Given the description of an element on the screen output the (x, y) to click on. 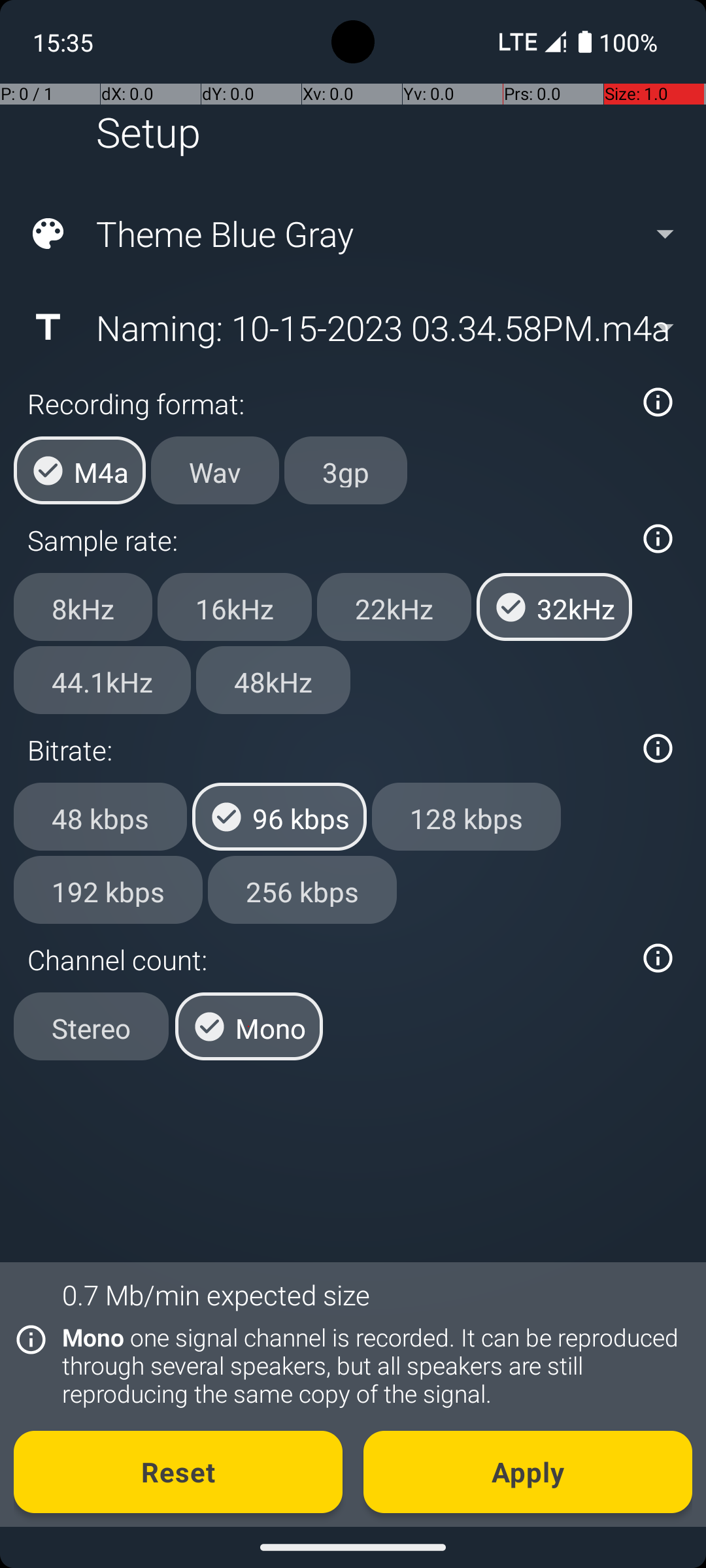
0.7 Mb/min expected size Element type: android.widget.TextView (215, 1294)
Mono one signal channel is recorded. It can be reproduced through several speakers, but all speakers are still reproducing the same copy of the signal. Element type: android.widget.TextView (370, 1364)
Naming: 10-15-2023 03.34.58PM.m4a Element type: android.widget.TextView (352, 327)
